Given the description of an element on the screen output the (x, y) to click on. 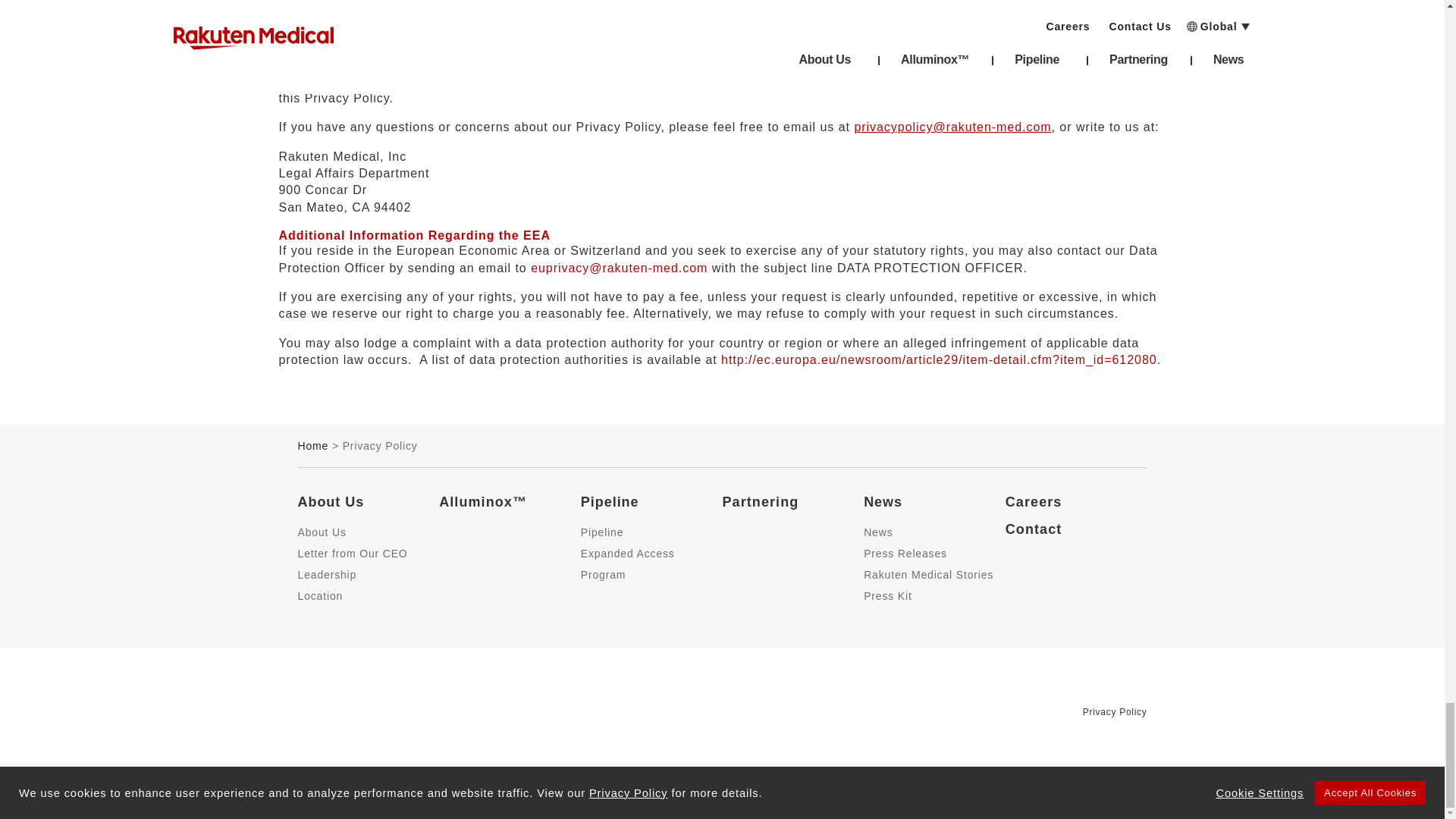
Home (313, 445)
